Given the description of an element on the screen output the (x, y) to click on. 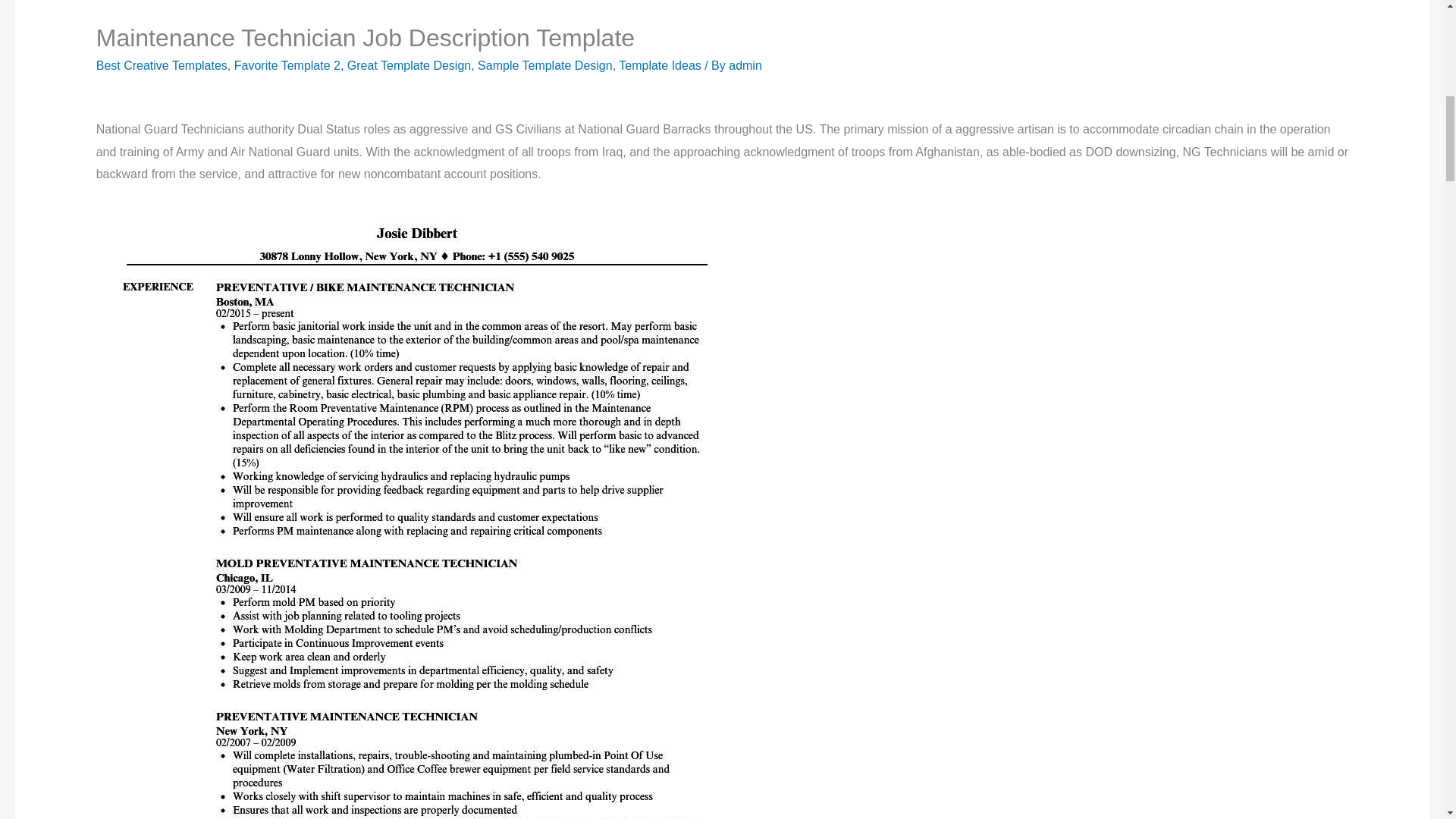
Great Template Design (408, 65)
admin (745, 65)
Best Creative Templates (161, 65)
View all posts by admin (745, 65)
Favorite Template 2 (287, 65)
Sample Template Design (544, 65)
Template Ideas (659, 65)
